Given the description of an element on the screen output the (x, y) to click on. 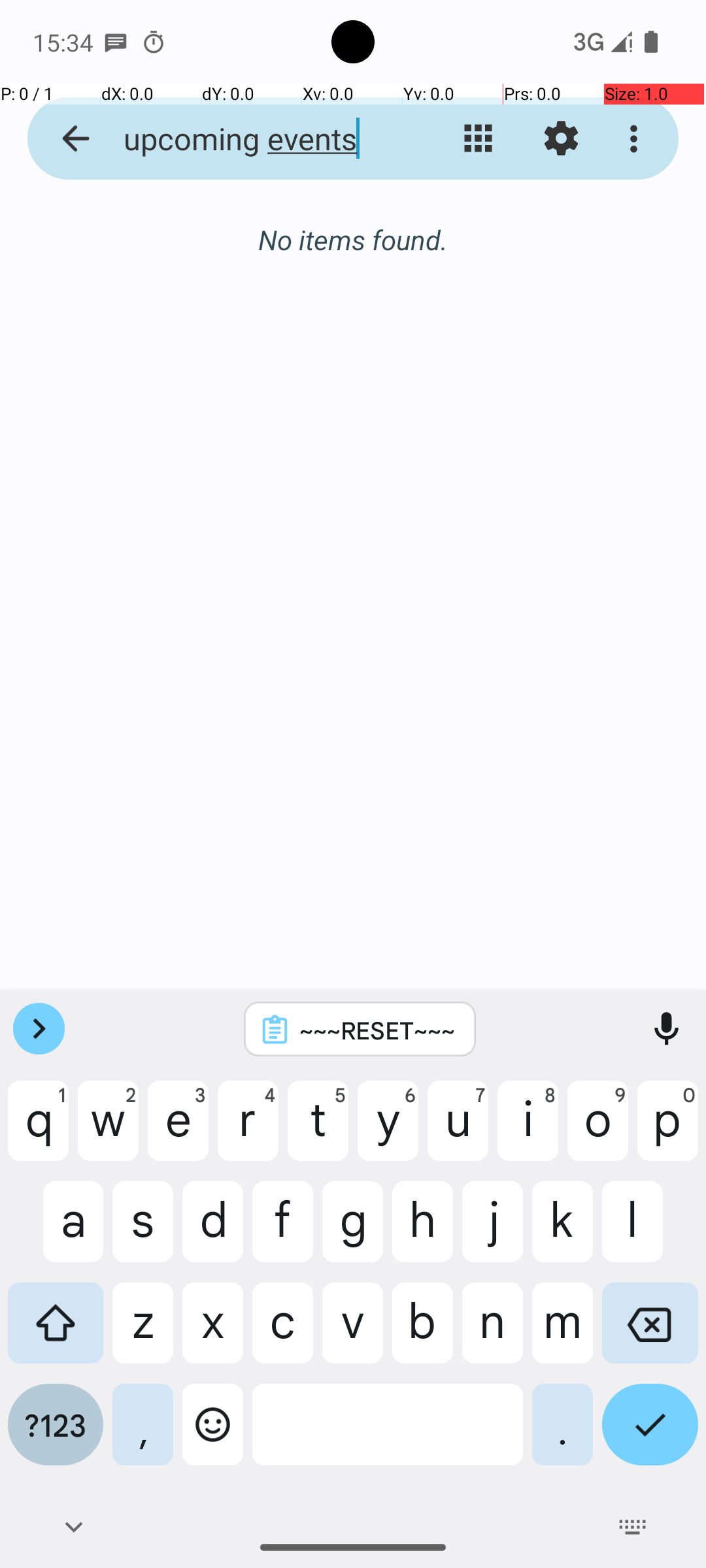
upcoming events Element type: android.widget.EditText (252, 138)
